Given the description of an element on the screen output the (x, y) to click on. 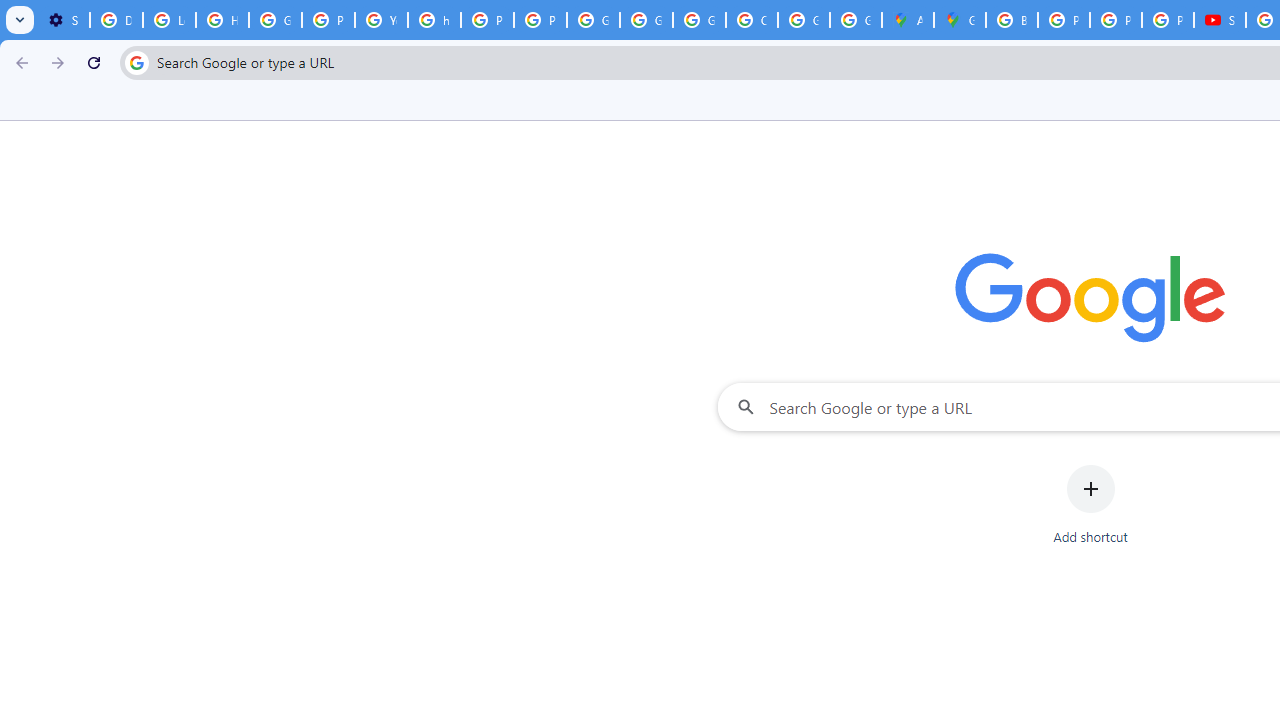
Learn how to find your photos - Google Photos Help (169, 20)
Create your Google Account (751, 20)
YouTube (381, 20)
Privacy Help Center - Policies Help (1064, 20)
Settings - Customize profile (63, 20)
Google Maps (959, 20)
